Given the description of an element on the screen output the (x, y) to click on. 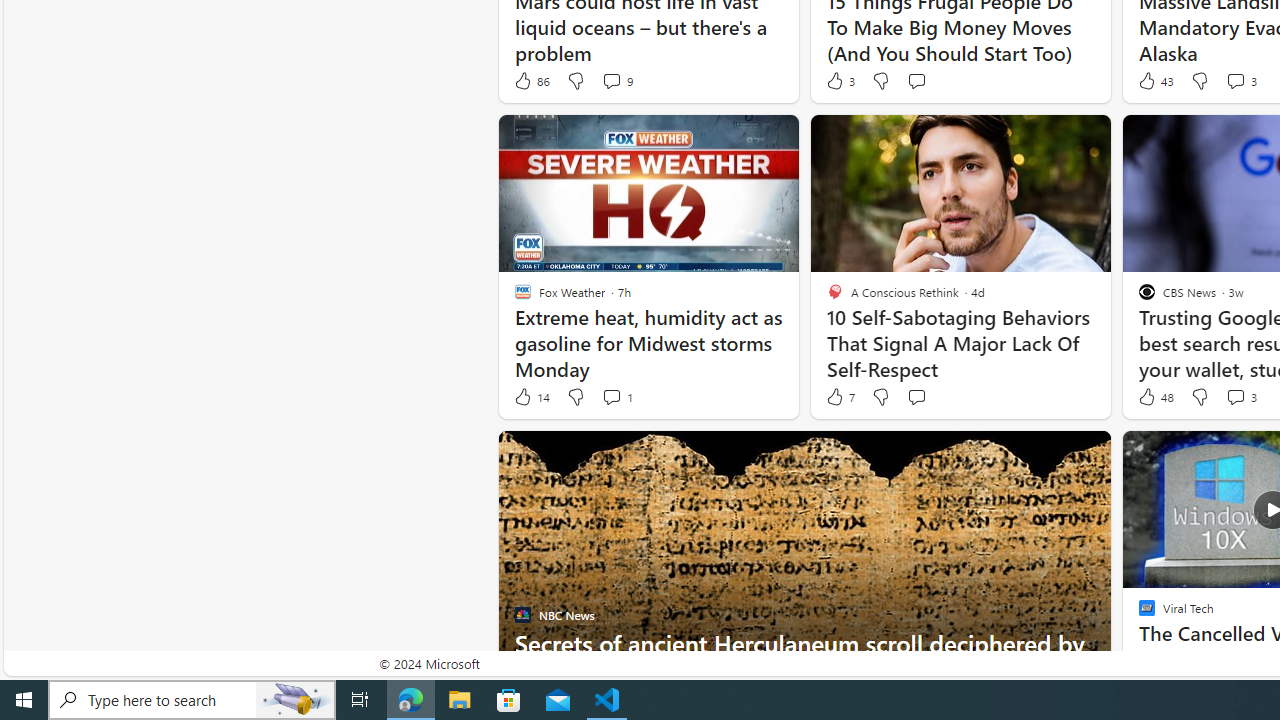
14 Like (531, 397)
86 Like (531, 80)
Hide this story (1050, 454)
View comments 1 Comment (611, 396)
View comments 1 Comment (616, 397)
3 Like (839, 80)
View comments 3 Comment (1234, 396)
View comments 3 Comment (1240, 397)
View comments 9 Comment (616, 80)
48 Like (1154, 397)
43 Like (1154, 80)
